Given the description of an element on the screen output the (x, y) to click on. 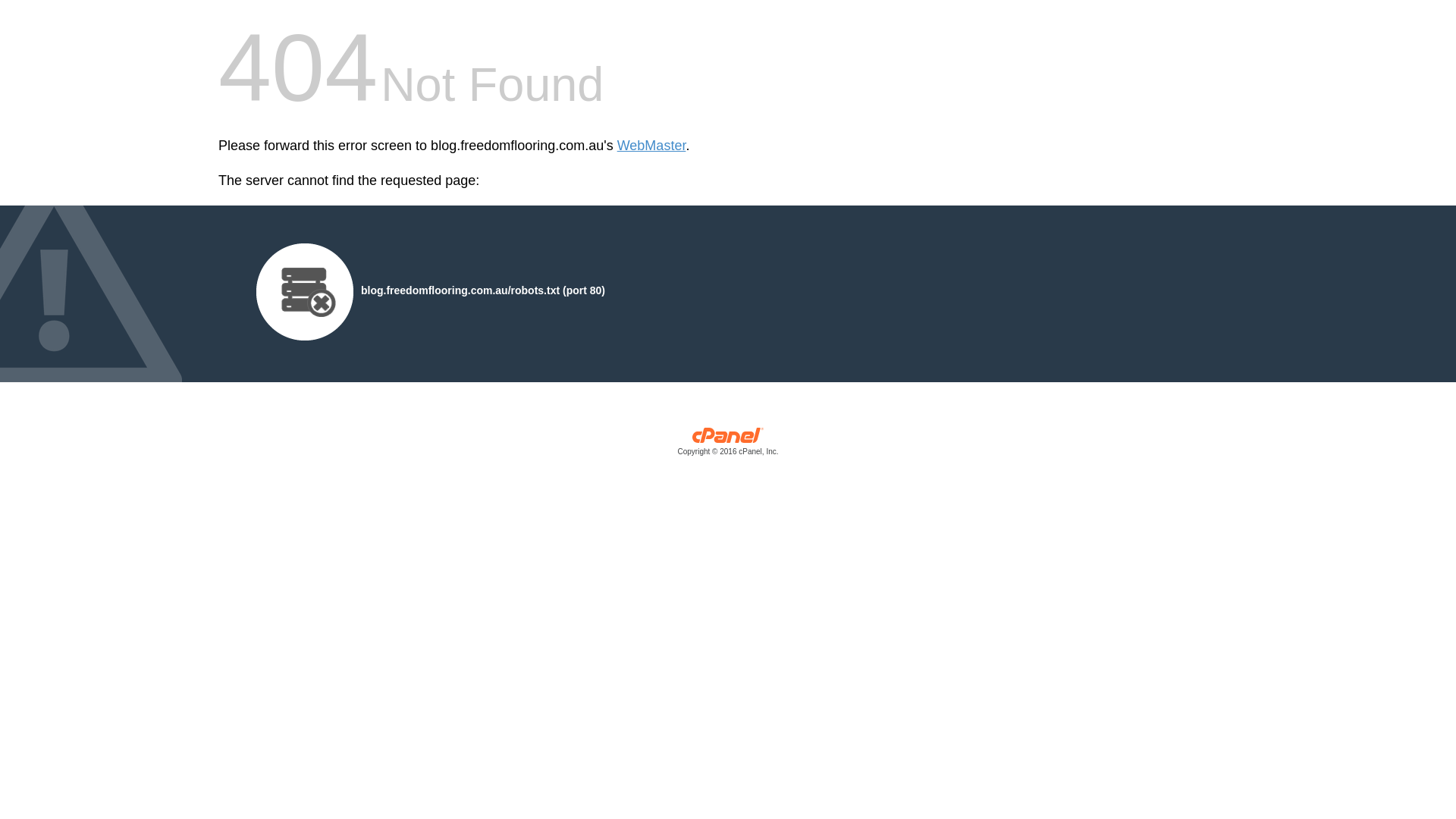
WebMaster Element type: text (651, 145)
